Given the description of an element on the screen output the (x, y) to click on. 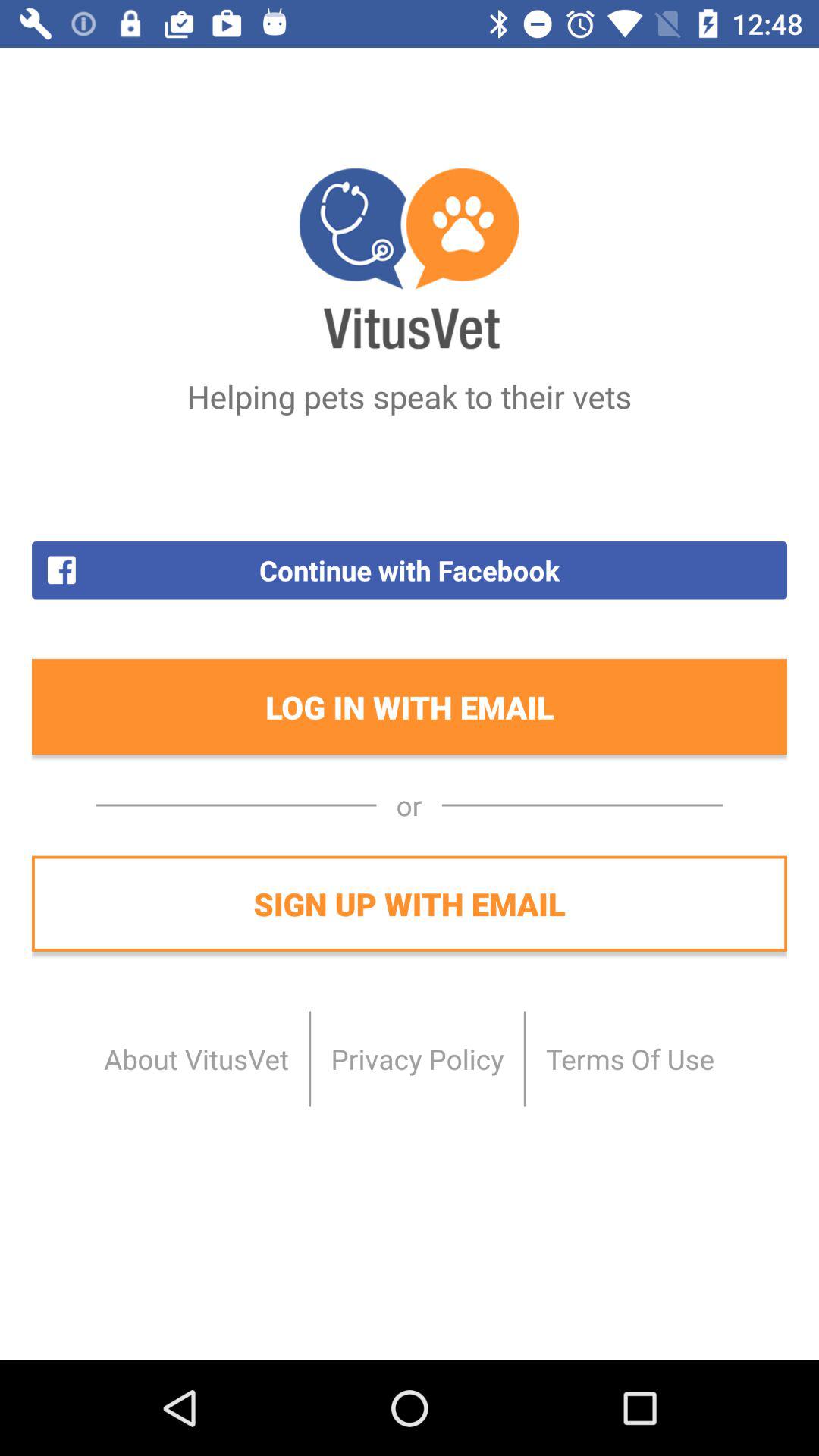
click item below the or icon (409, 903)
